Given the description of an element on the screen output the (x, y) to click on. 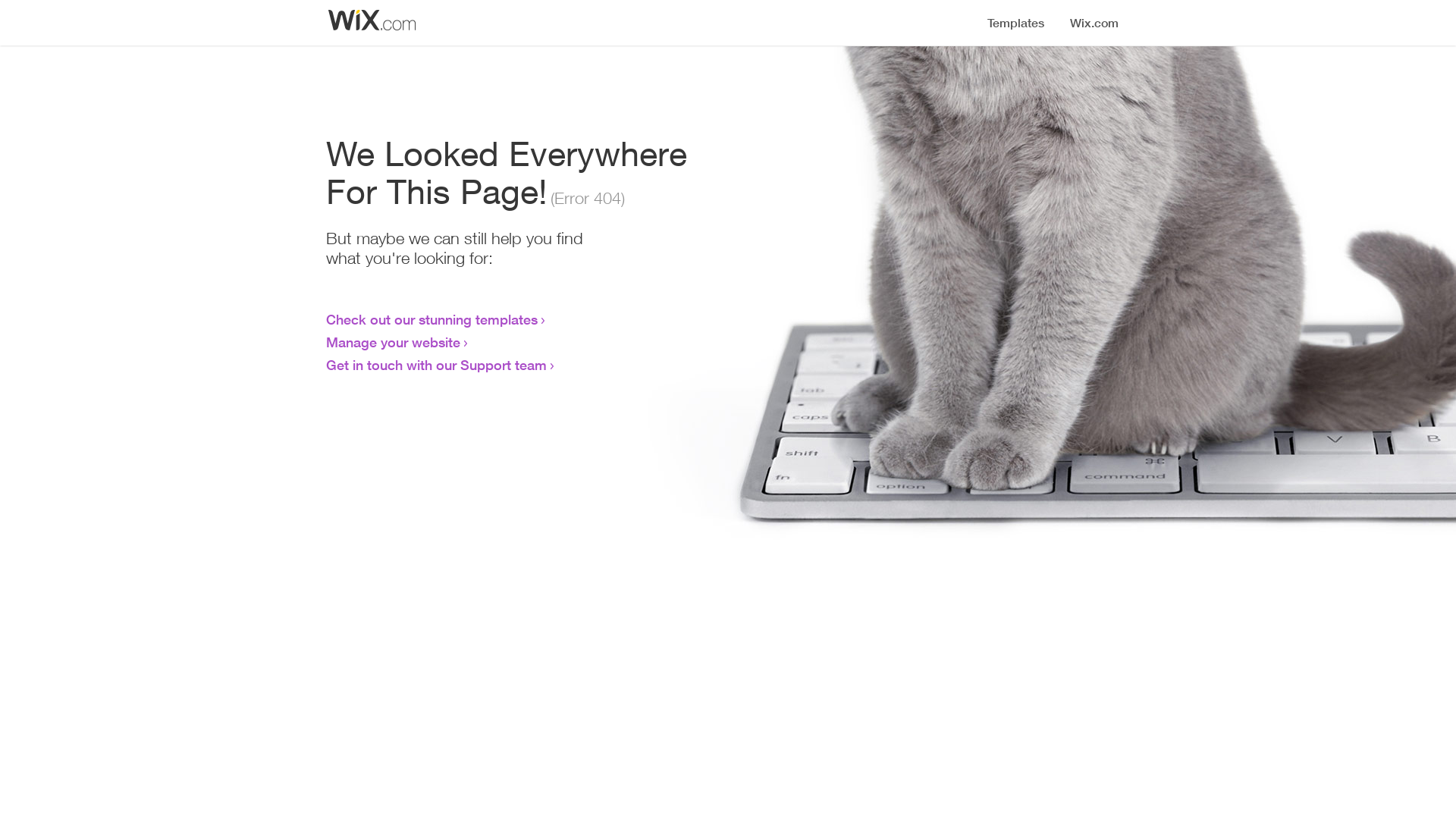
Manage your website Element type: text (393, 341)
Get in touch with our Support team Element type: text (436, 364)
Check out our stunning templates Element type: text (431, 318)
